Given the description of an element on the screen output the (x, y) to click on. 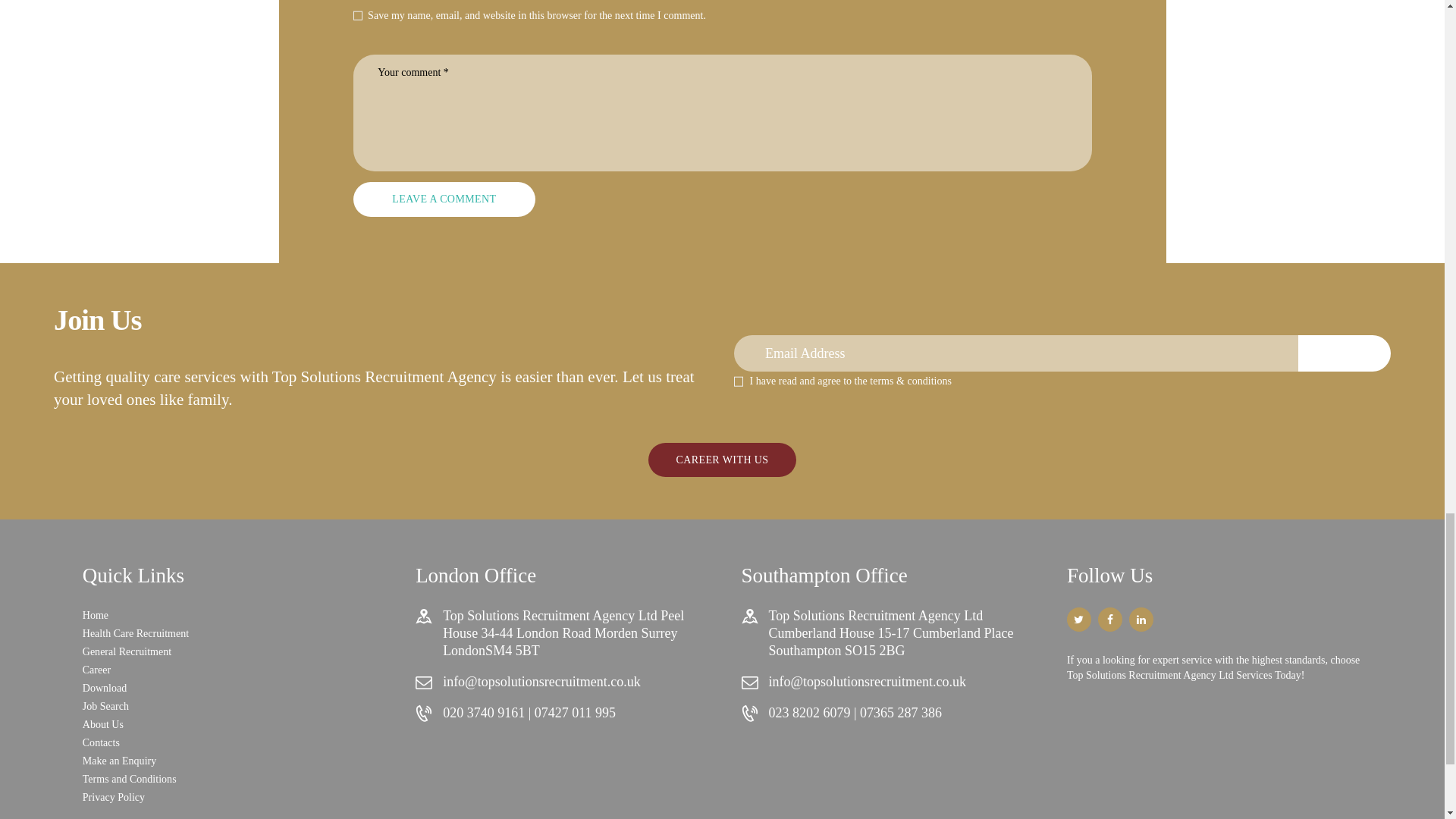
Leave a comment (444, 199)
Submit (1344, 352)
